Given the description of an element on the screen output the (x, y) to click on. 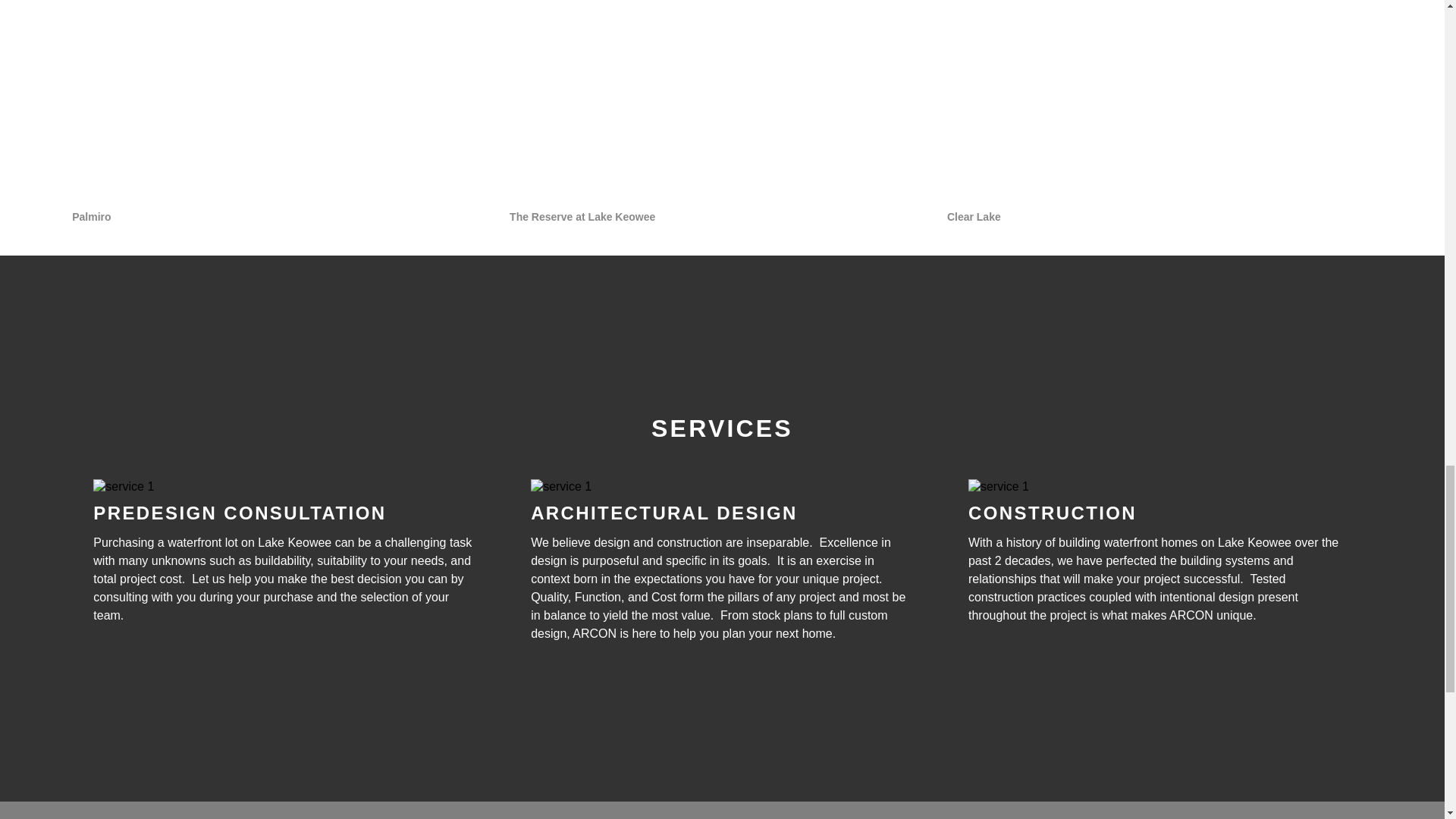
Palmiro (284, 112)
Clear Lake (1160, 112)
The Reserve at Lake Keowee (721, 112)
